Given the description of an element on the screen output the (x, y) to click on. 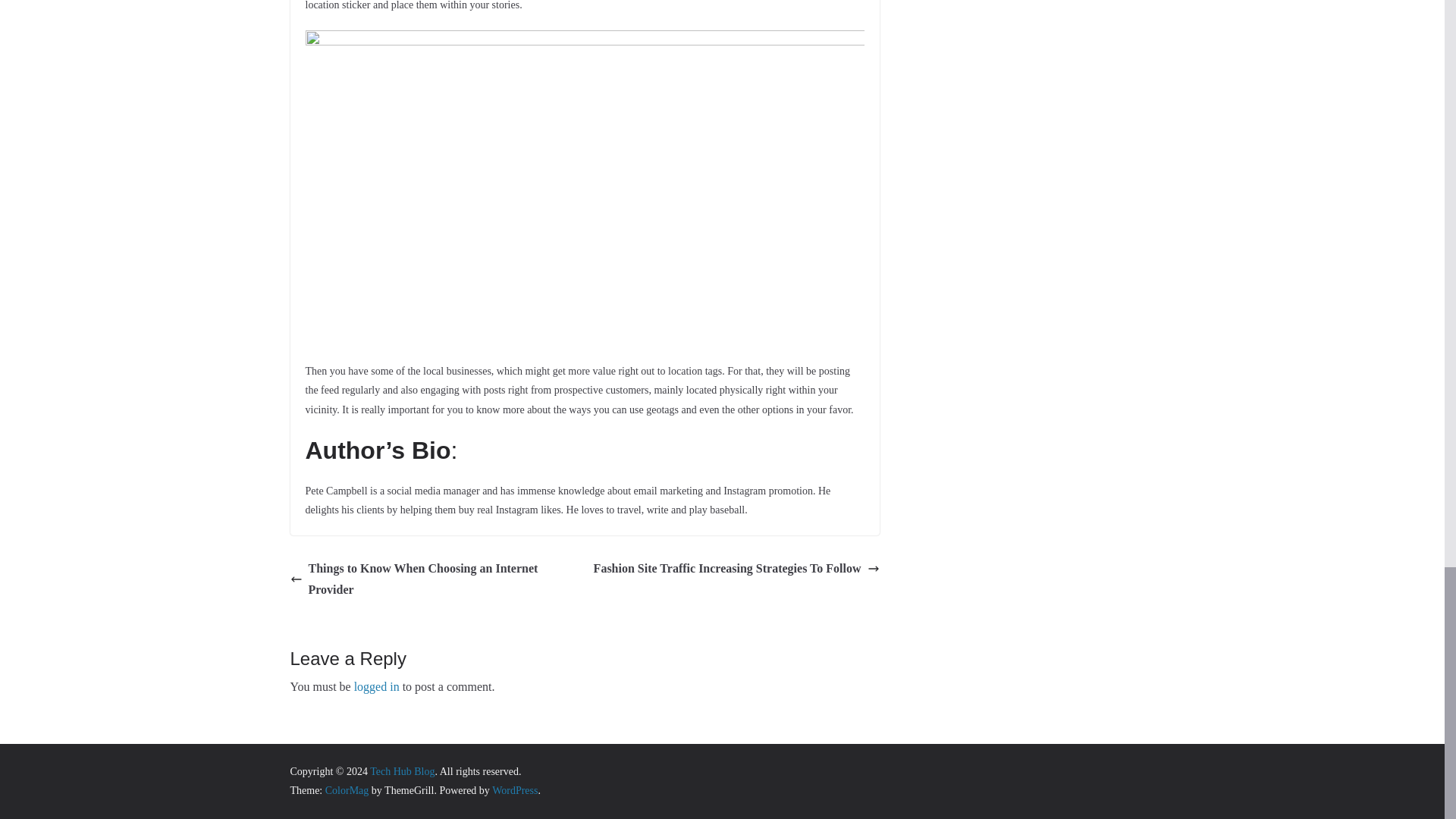
Things to Know When Choosing an Internet Provider (432, 579)
logged in (375, 686)
Tech Hub Blog (401, 771)
WordPress (514, 790)
Fashion Site Traffic Increasing Strategies To Follow (736, 568)
ColorMag (346, 790)
